Given the description of an element on the screen output the (x, y) to click on. 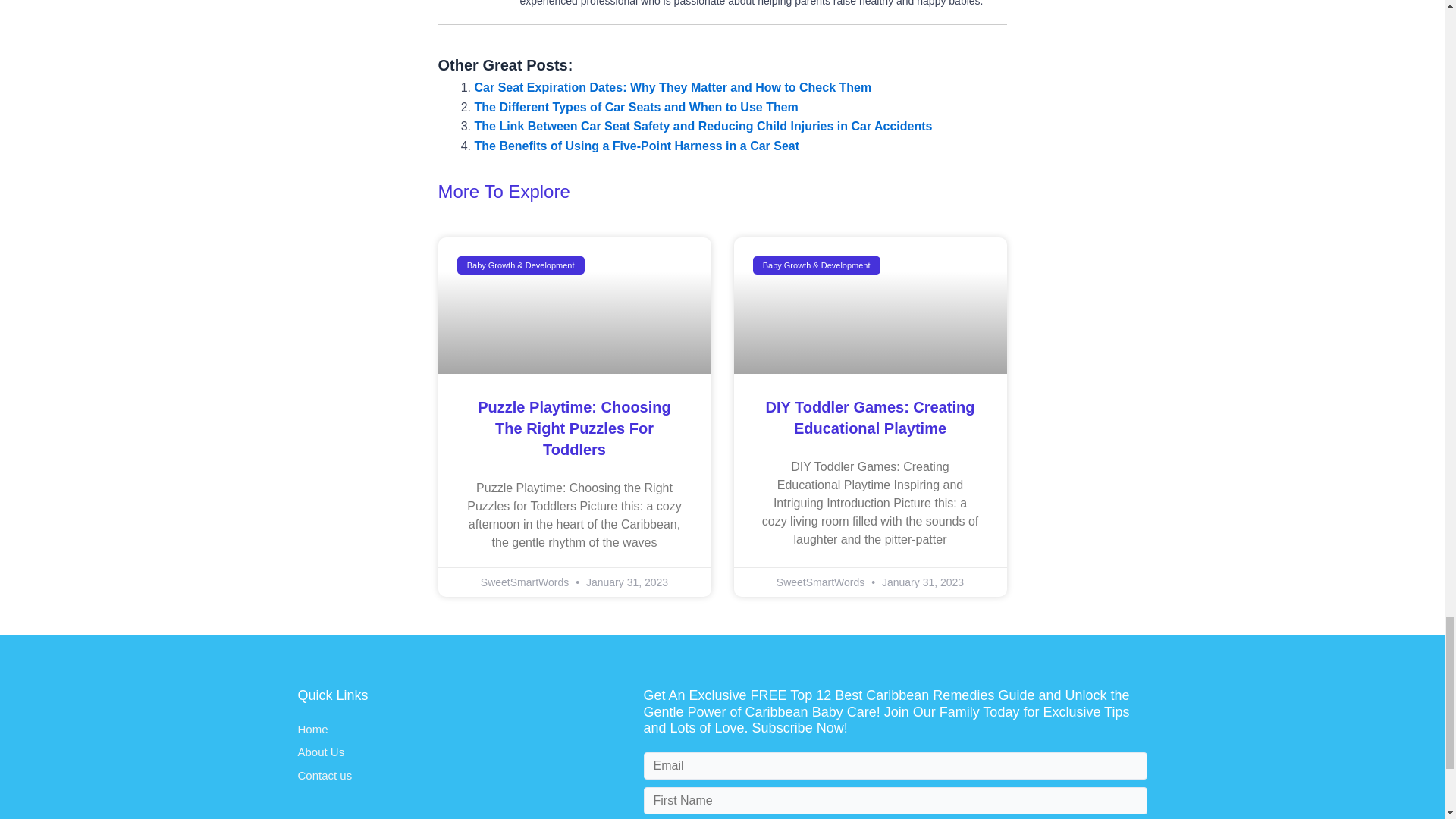
The Different Types of Car Seats and When to Use Them (635, 106)
